Given the description of an element on the screen output the (x, y) to click on. 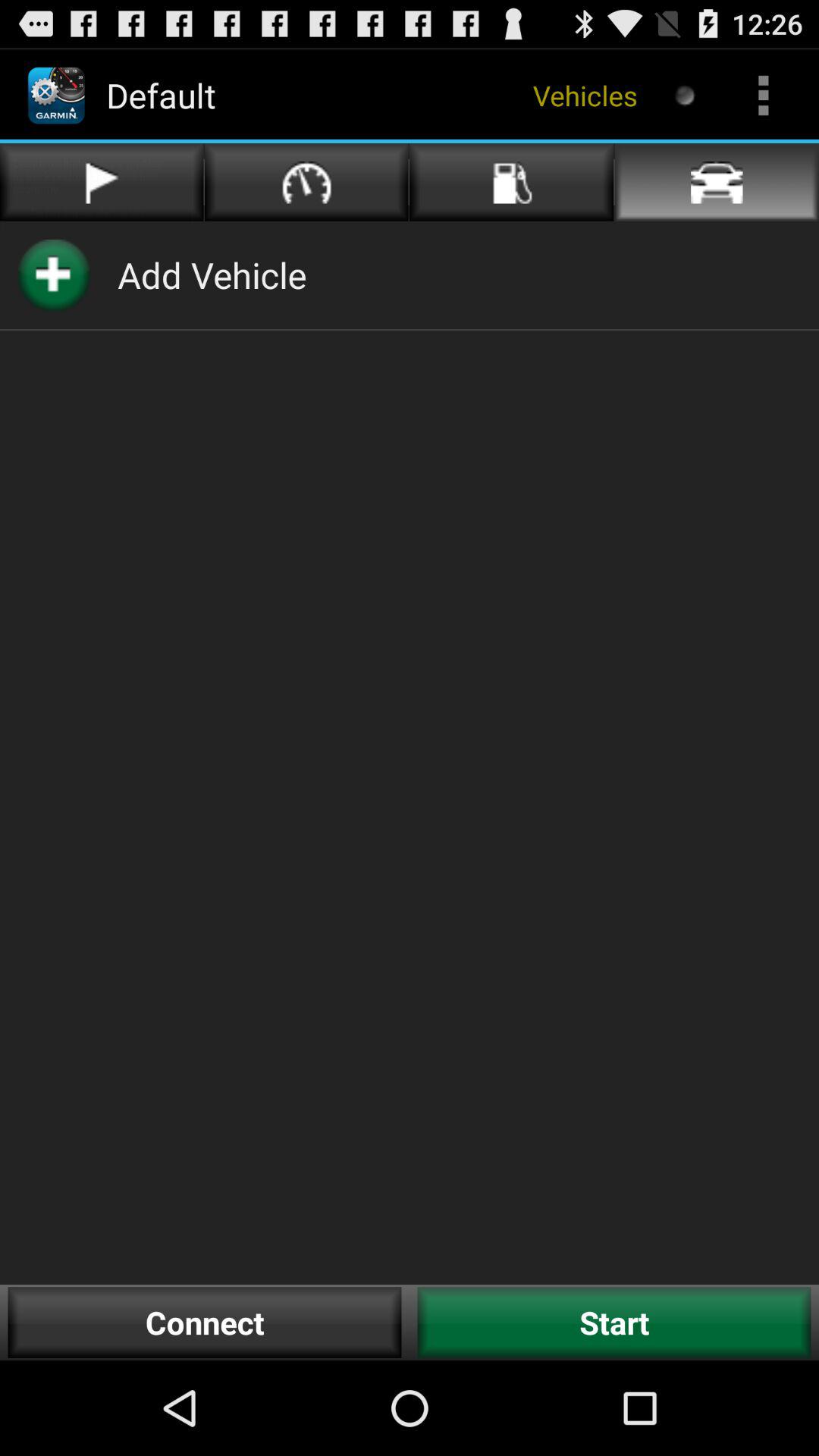
swipe to the connect item (204, 1322)
